Given the description of an element on the screen output the (x, y) to click on. 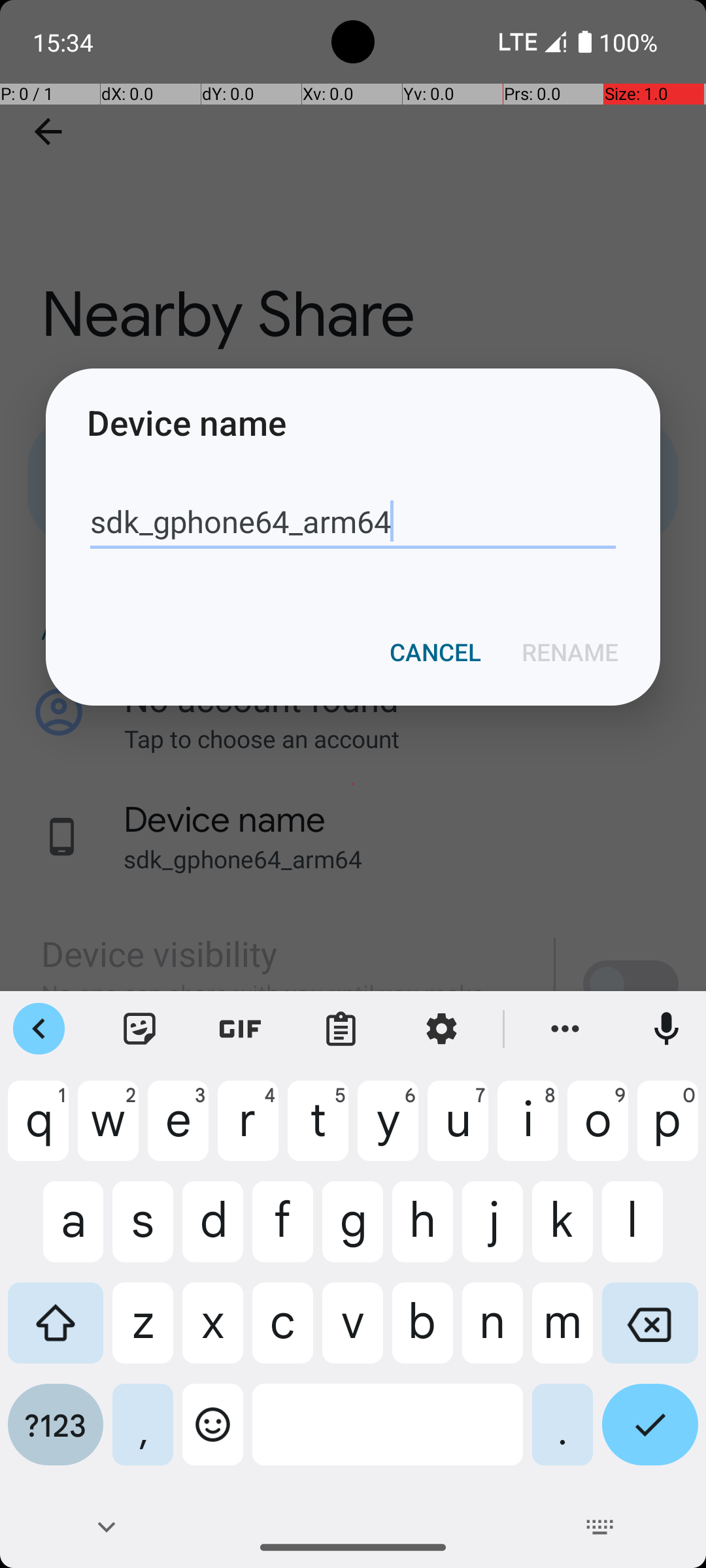
RENAME Element type: android.widget.Button (570, 651)
